Given the description of an element on the screen output the (x, y) to click on. 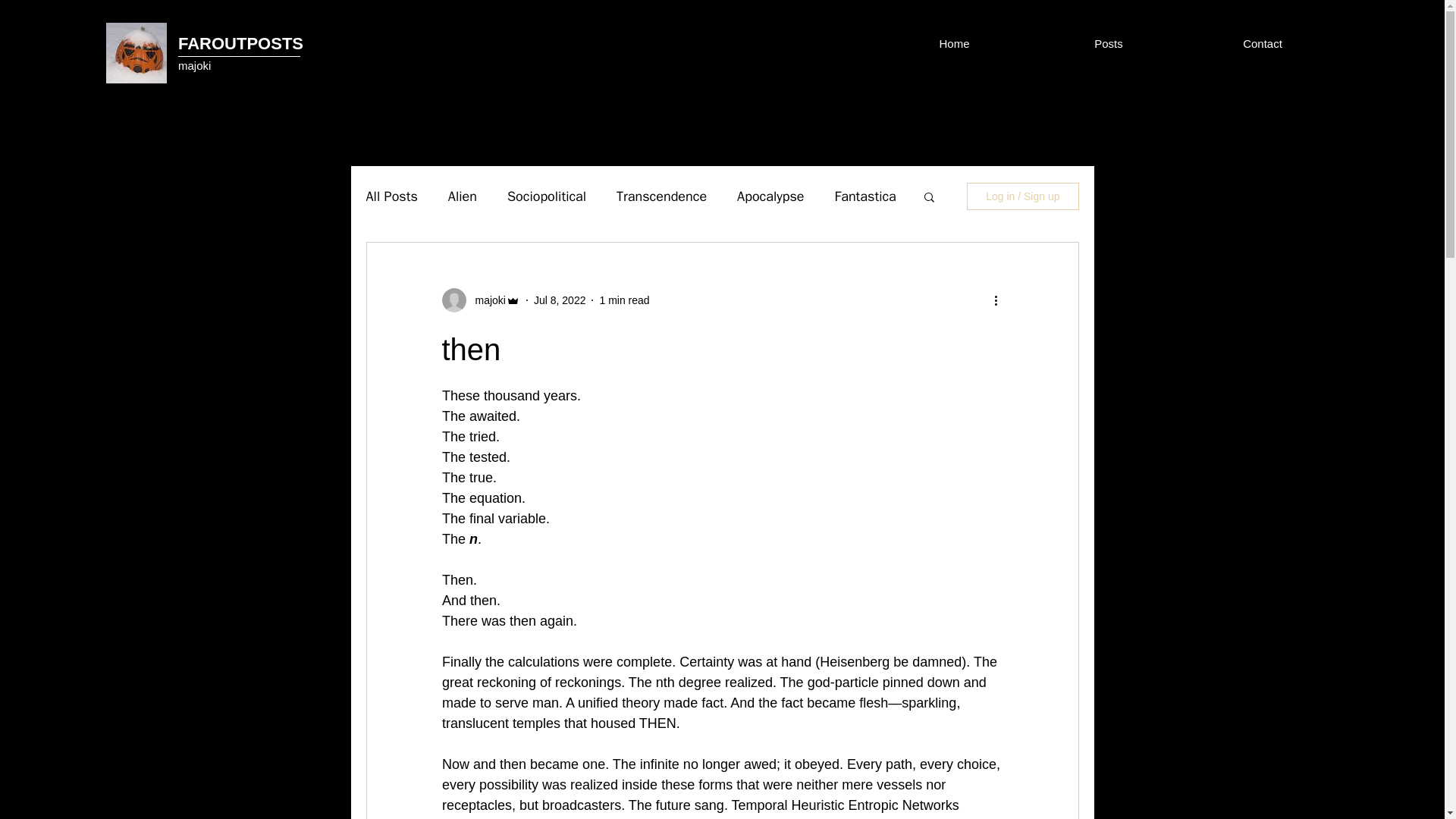
majoki (194, 65)
1 min read (623, 300)
Contact (1262, 43)
All Posts (390, 196)
Alien (462, 196)
Home (953, 43)
Sociopolitical (546, 196)
Jul 8, 2022 (560, 300)
majoki (485, 300)
Fantastica (865, 196)
